Given the description of an element on the screen output the (x, y) to click on. 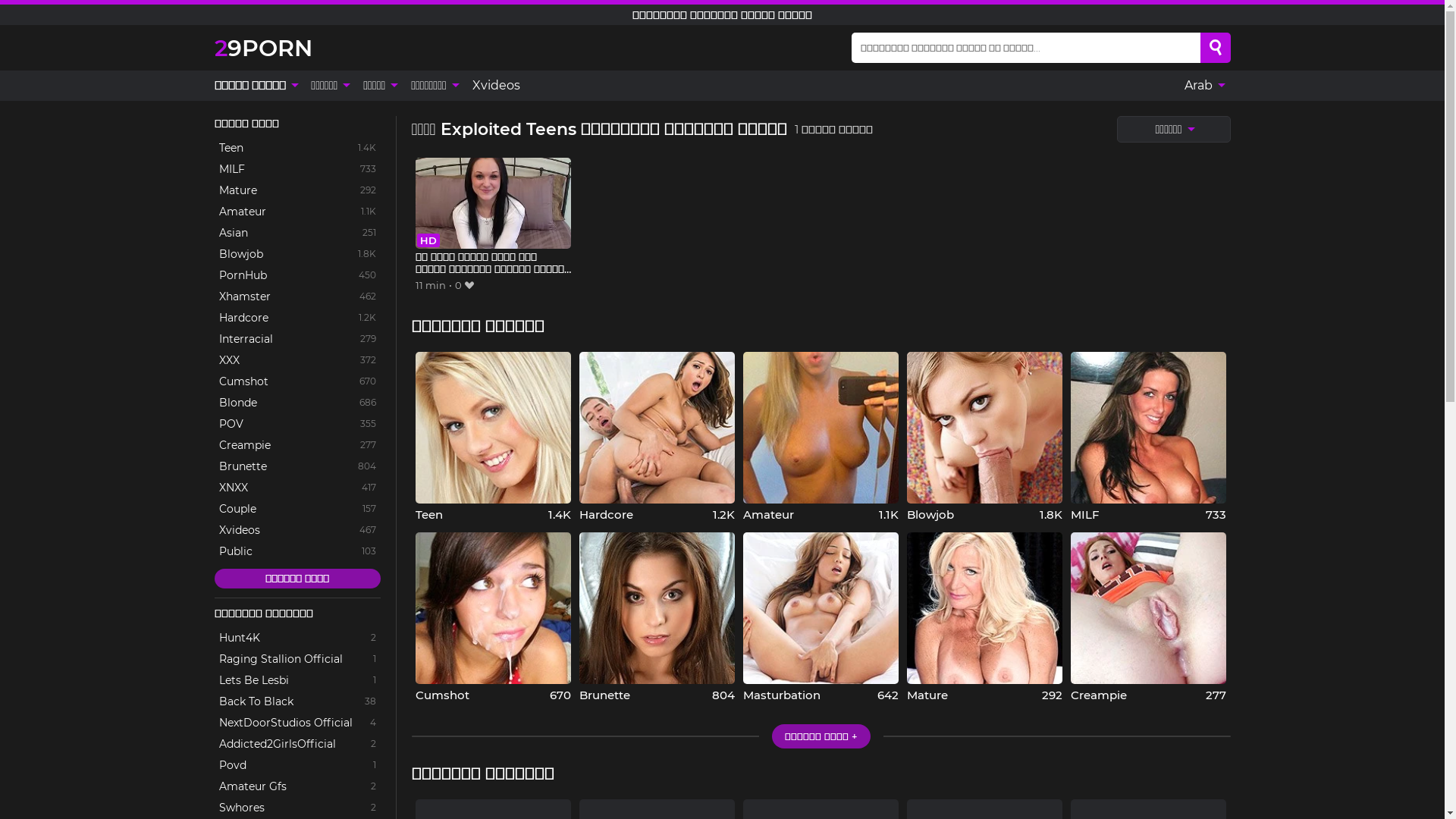
Blonde Element type: text (296, 402)
Asian Element type: text (296, 232)
Back To Black Element type: text (296, 701)
Mature Element type: text (296, 190)
Mature Element type: text (984, 617)
Hardcore Element type: text (656, 436)
Brunette Element type: text (296, 466)
Teen Element type: text (296, 147)
XXX Element type: text (296, 360)
Creampie Element type: text (1148, 617)
Povd Element type: text (296, 765)
Blowjob Element type: text (296, 253)
Xhamster Element type: text (296, 296)
Public Element type: text (296, 551)
Swhores Element type: text (296, 807)
Amateur Gfs Element type: text (296, 786)
Amateur Element type: text (820, 436)
Hardcore Element type: text (296, 317)
Xvideos Element type: text (296, 529)
Cumshot Element type: text (296, 381)
Amateur Element type: text (296, 211)
Xvideos Element type: text (495, 85)
Lets Be Lesbi Element type: text (296, 680)
Couple Element type: text (296, 508)
Brunette Element type: text (656, 617)
Creampie Element type: text (296, 445)
PornHub Element type: text (296, 275)
Masturbation Element type: text (820, 617)
Blowjob Element type: text (984, 436)
Interracial Element type: text (296, 338)
Search Element type: text (1215, 47)
NextDoorStudios Official Element type: text (296, 722)
MILF Element type: text (296, 168)
Raging Stallion Official Element type: text (296, 658)
Addicted2GirlsOfficial Element type: text (296, 743)
Hunt4K Element type: text (296, 637)
Cumshot Element type: text (493, 617)
29PORN Element type: text (262, 47)
POV Element type: text (296, 423)
Teen Element type: text (493, 436)
XNXX Element type: text (296, 487)
Arab Element type: text (1203, 85)
MILF Element type: text (1148, 436)
